Given the description of an element on the screen output the (x, y) to click on. 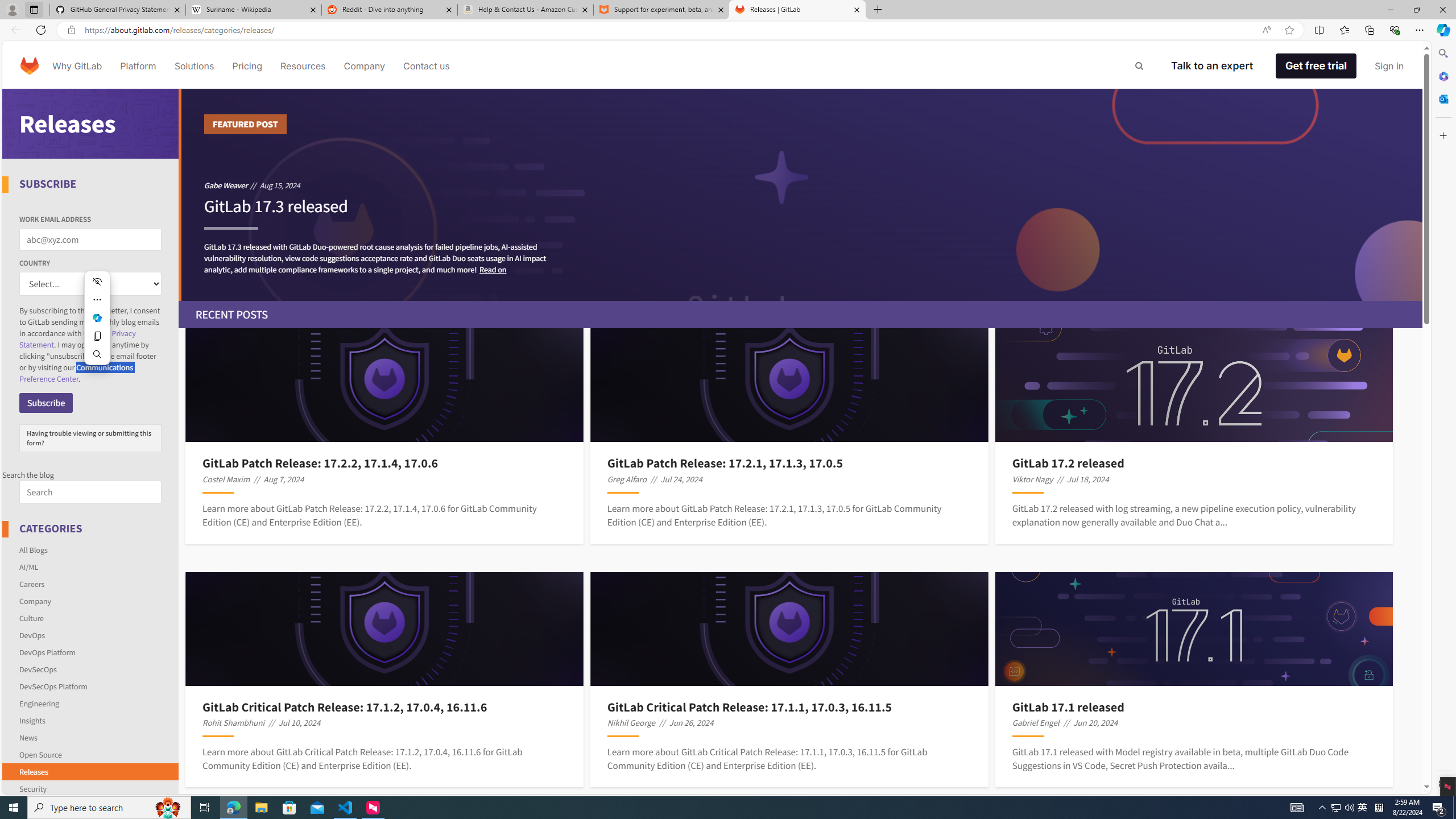
GitLab Critical Patch Release: 17.1.2, 17.0.4, 16.11.6 (384, 706)
Careers (31, 583)
GitLab home page (29, 65)
Open Source (40, 754)
Engineering (90, 702)
Mini menu on text selection (97, 324)
Pricing (246, 65)
Platform (138, 65)
GitLab Patch Release: 17.2.1, 17.1.3, 17.0.5 (789, 463)
Contact us (426, 65)
Releases (33, 771)
